Given the description of an element on the screen output the (x, y) to click on. 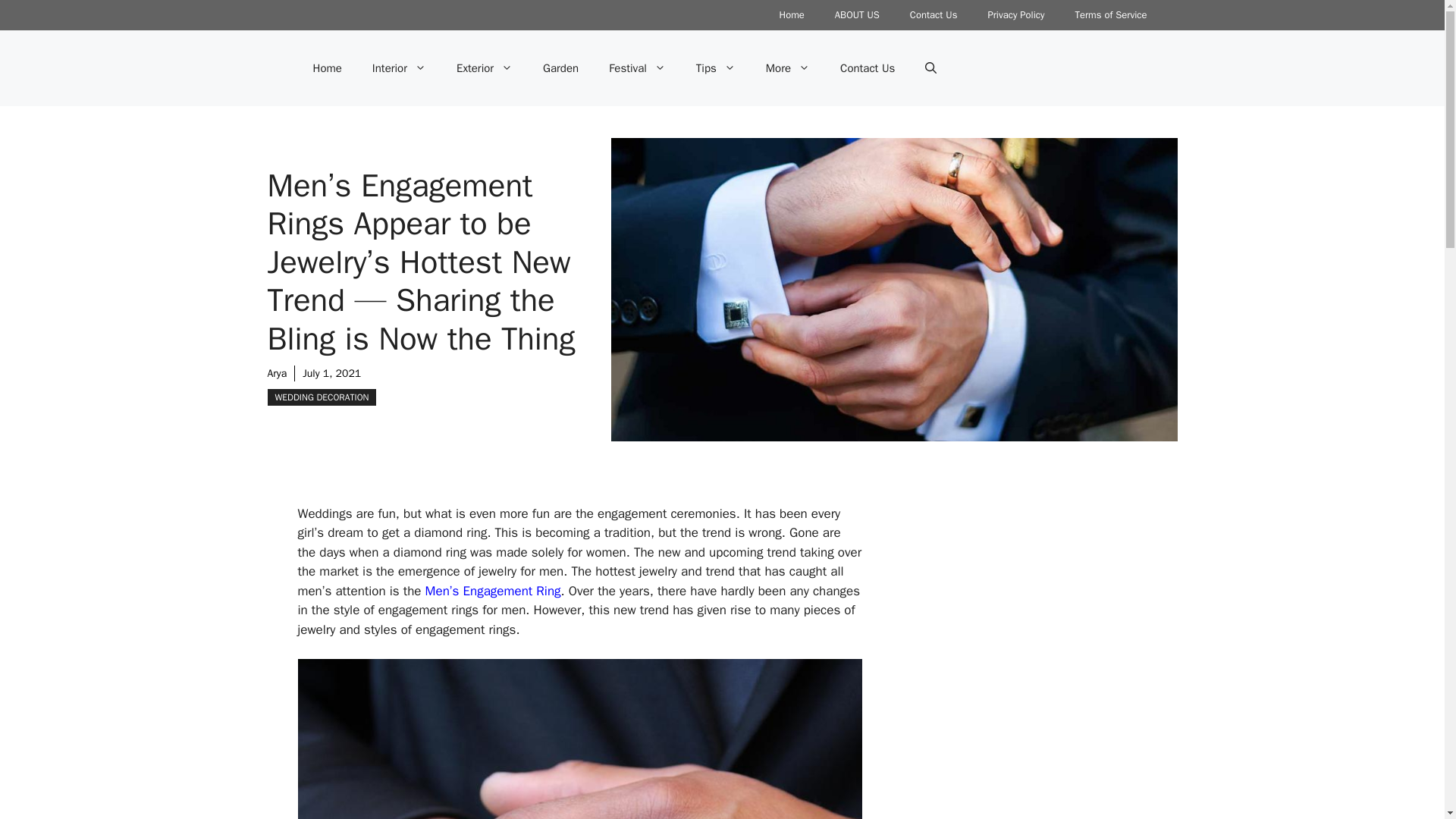
Home (326, 67)
Garden (560, 67)
ABOUT US (857, 15)
Terms of Service (1110, 15)
Residence Style (1019, 661)
Contact Us (933, 15)
Interior (398, 67)
Festival (637, 67)
More (788, 67)
Home (791, 15)
Tips (716, 67)
Privacy Policy (1015, 15)
Exterior (484, 67)
